Given the description of an element on the screen output the (x, y) to click on. 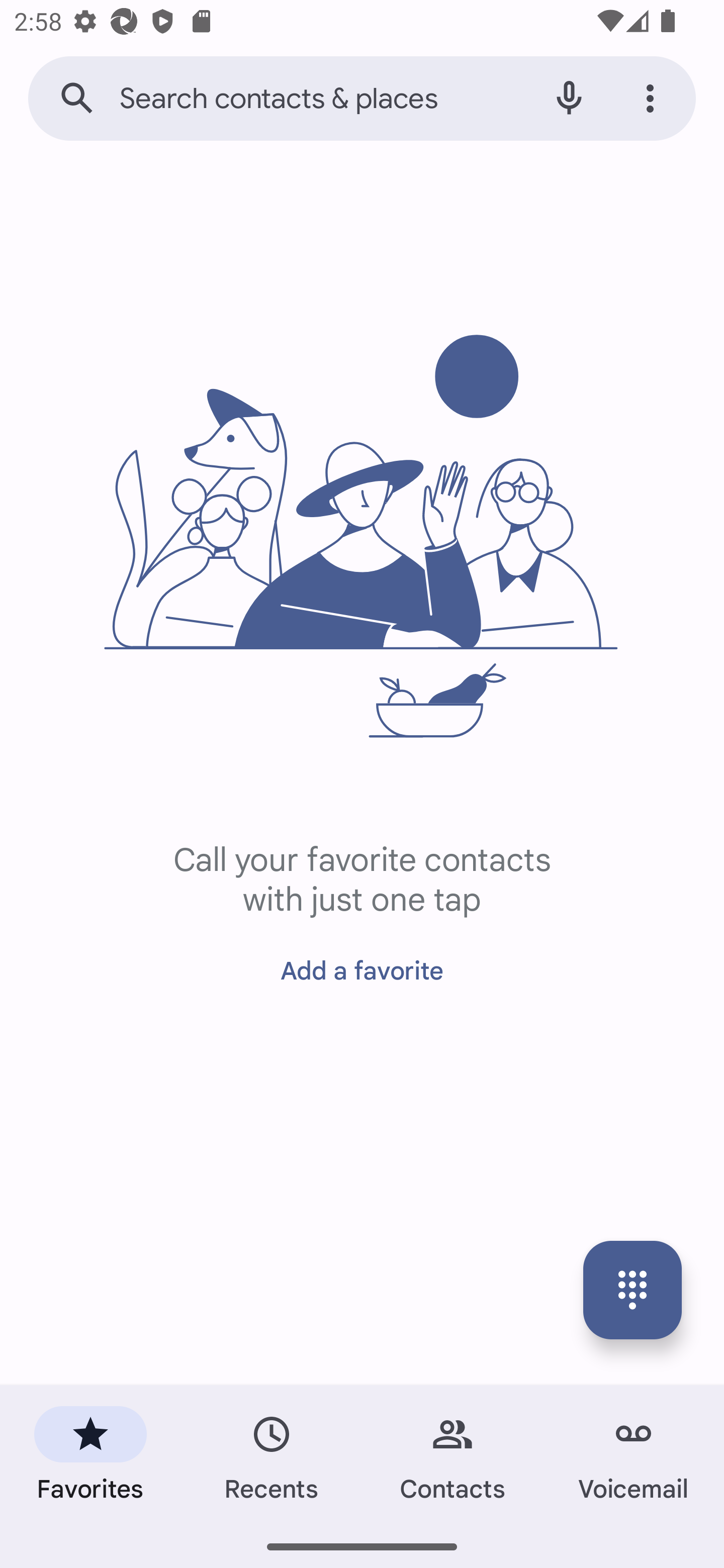
Start voice search (569, 98)
More options (653, 98)
Add a favorite (362, 963)
key pad (632, 1289)
Recents (271, 1454)
Contacts (452, 1454)
Voicemail (633, 1454)
